Given the description of an element on the screen output the (x, y) to click on. 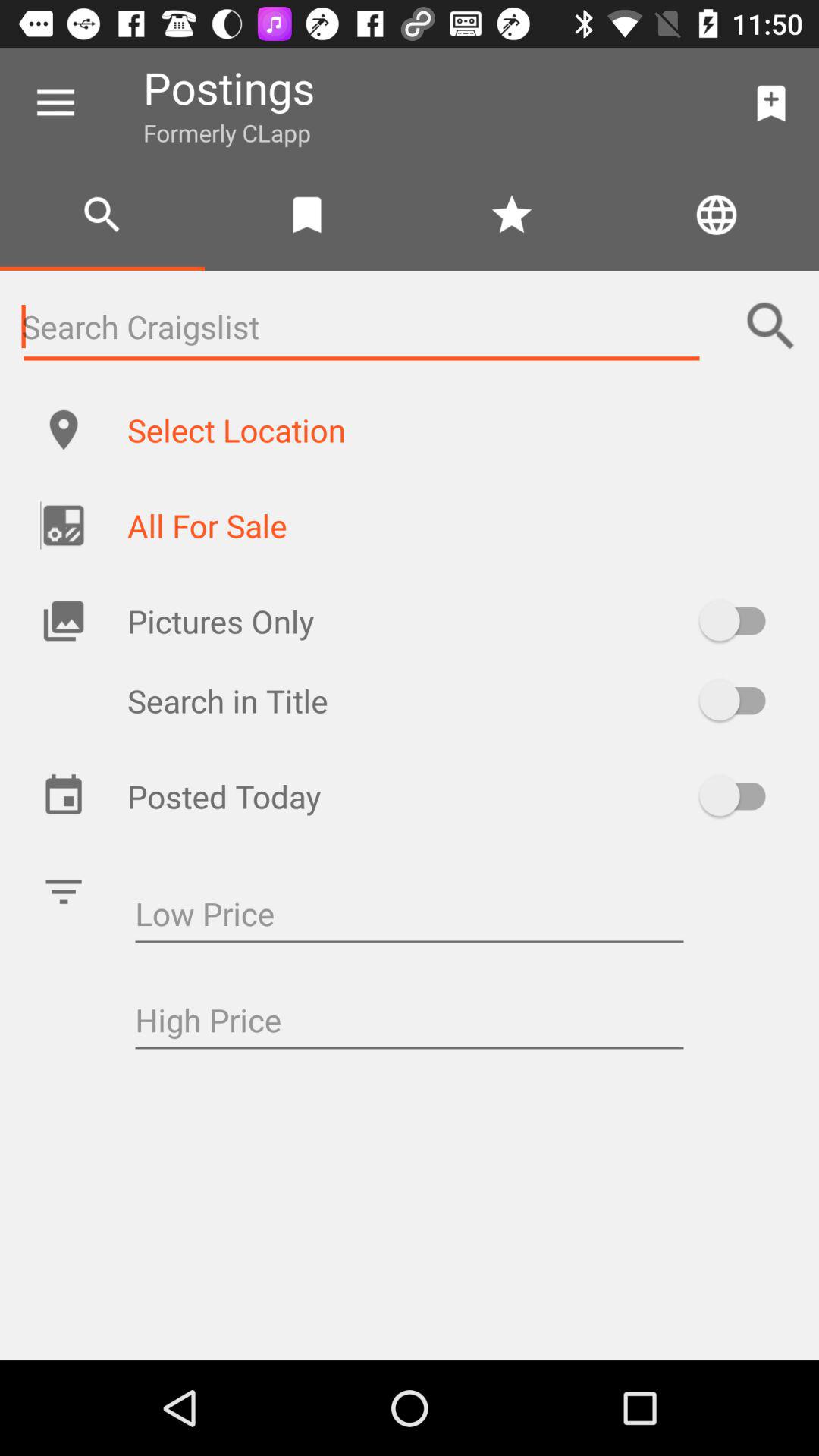
choose select location item (457, 429)
